Given the description of an element on the screen output the (x, y) to click on. 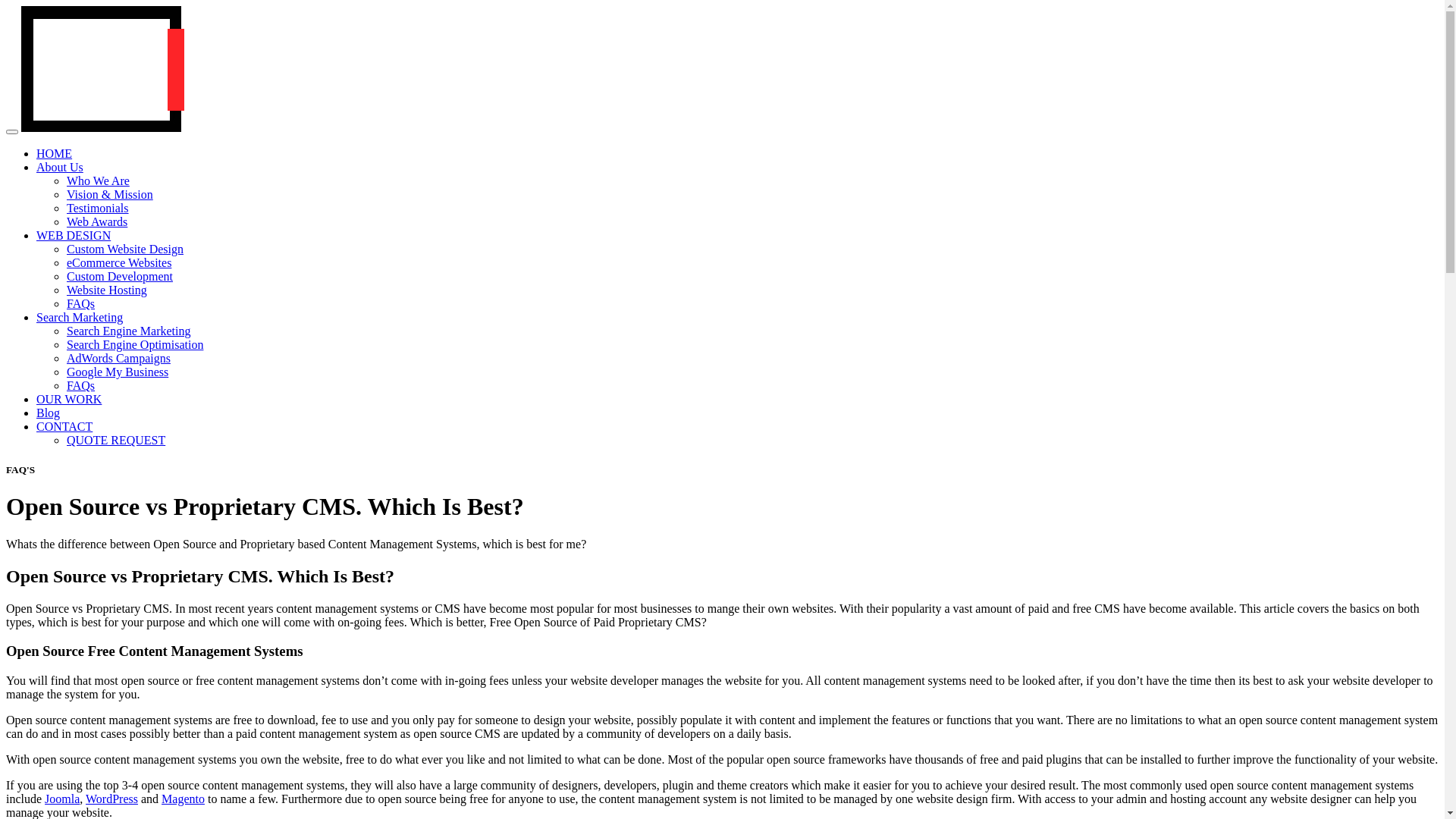
OUR WORK Element type: text (68, 398)
CONTACT Element type: text (64, 426)
Website Hosting Element type: text (106, 289)
WordPress Element type: text (111, 798)
Vision & Mission Element type: text (109, 194)
AdWords Campaigns Element type: text (118, 357)
Joomla Element type: text (61, 798)
Testimonials Element type: text (97, 207)
Search Marketing Element type: text (79, 316)
Blog Element type: text (47, 412)
QUOTE REQUEST Element type: text (115, 439)
Web Awards Element type: text (96, 221)
Custom Development Element type: text (119, 275)
Who We Are Element type: text (97, 180)
Search Engine Marketing Element type: text (128, 330)
Google My Business Element type: text (117, 371)
Custom Website Design Element type: text (124, 248)
FAQs Element type: text (80, 303)
About Us Element type: text (59, 166)
WEB DESIGN Element type: text (73, 235)
HOME Element type: text (54, 153)
Search Engine Optimisation Element type: text (134, 344)
FAQs Element type: text (80, 385)
eCommerce Websites Element type: text (118, 262)
Magento Element type: text (182, 798)
